Given the description of an element on the screen output the (x, y) to click on. 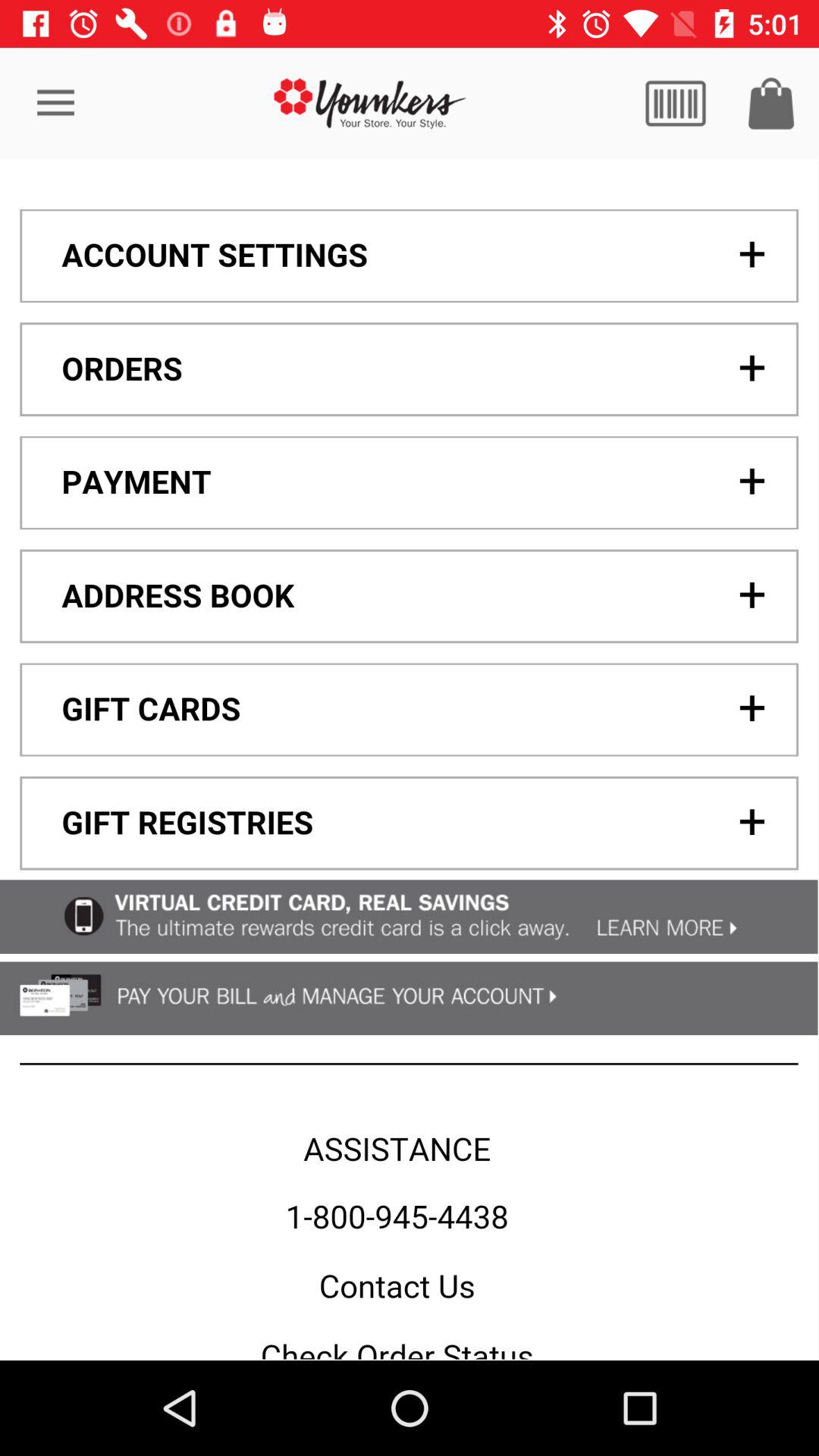
click the logo (369, 103)
